Given the description of an element on the screen output the (x, y) to click on. 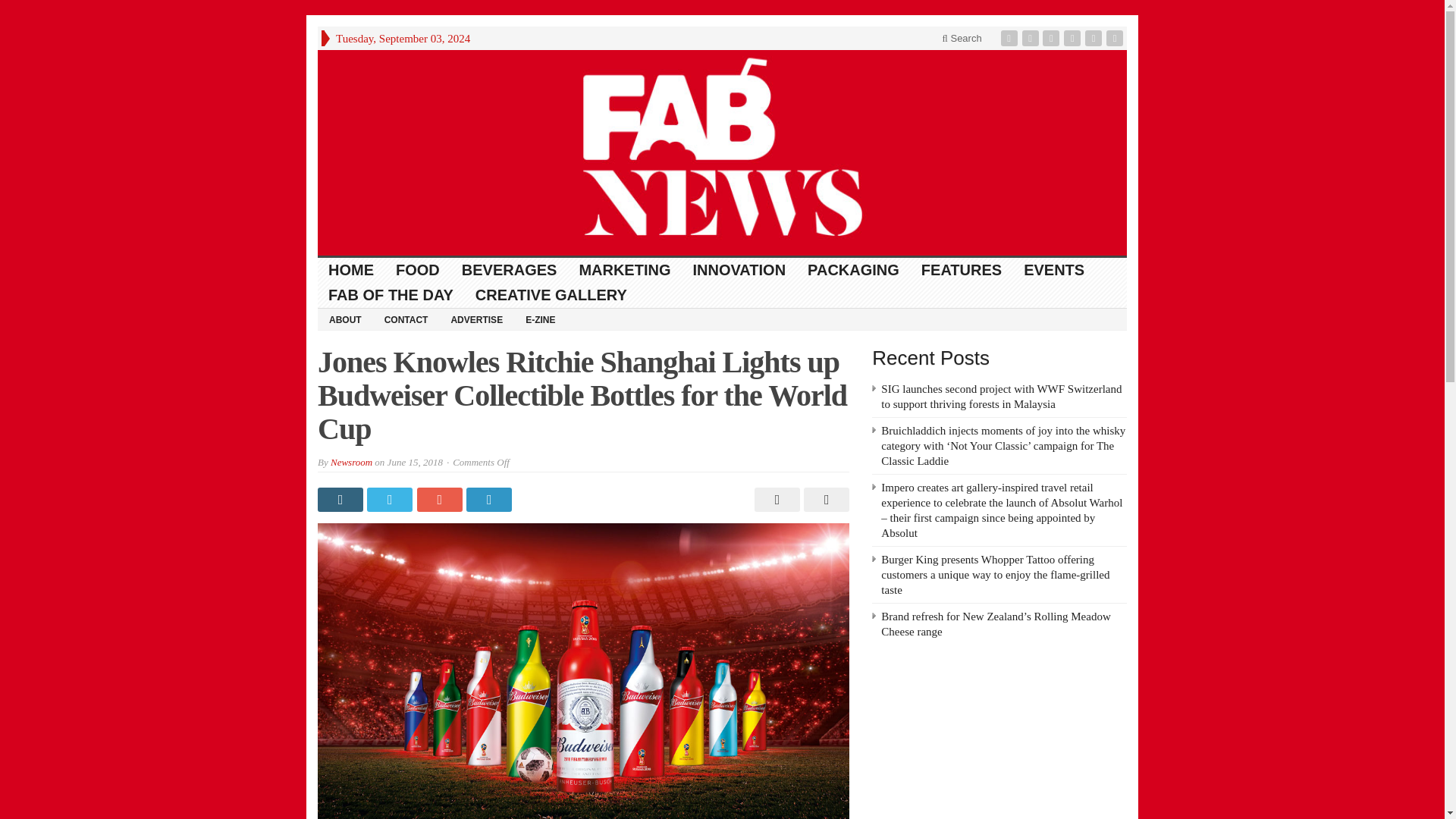
ADVERTISE (476, 319)
PACKAGING (853, 269)
LinkedIn (1052, 37)
CONTACT (405, 319)
Newsroom (351, 461)
MARKETING (624, 269)
INNOVATION (738, 269)
Share on Facebook (341, 499)
Share on LinkedIn (490, 499)
